Given the description of an element on the screen output the (x, y) to click on. 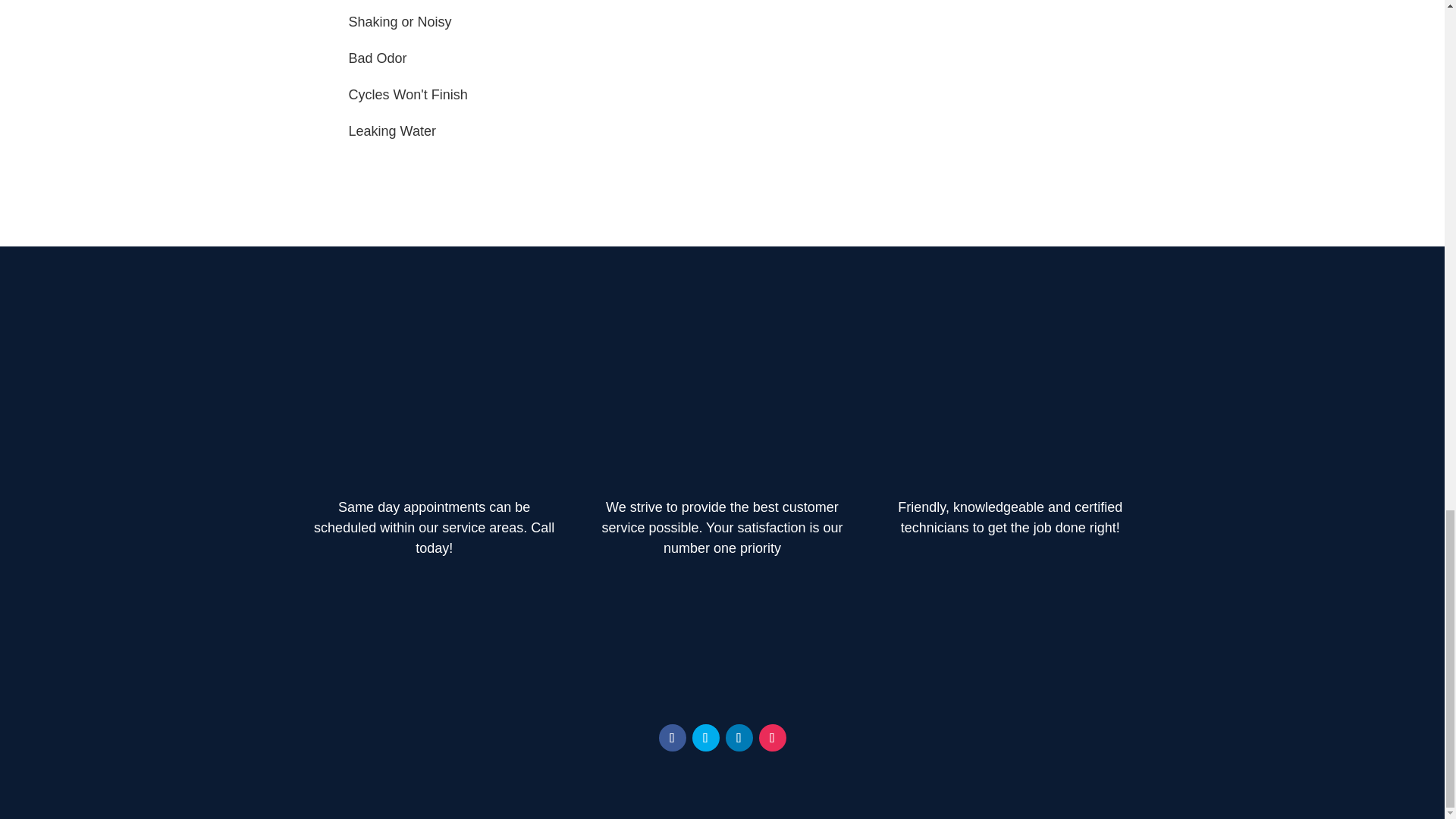
Follow on Twitter (705, 737)
Follow on Facebook (671, 737)
washing-machine-repairing (937, 37)
Follow on LinkedIn (738, 737)
Follow on Instagram (772, 737)
